Given the description of an element on the screen output the (x, y) to click on. 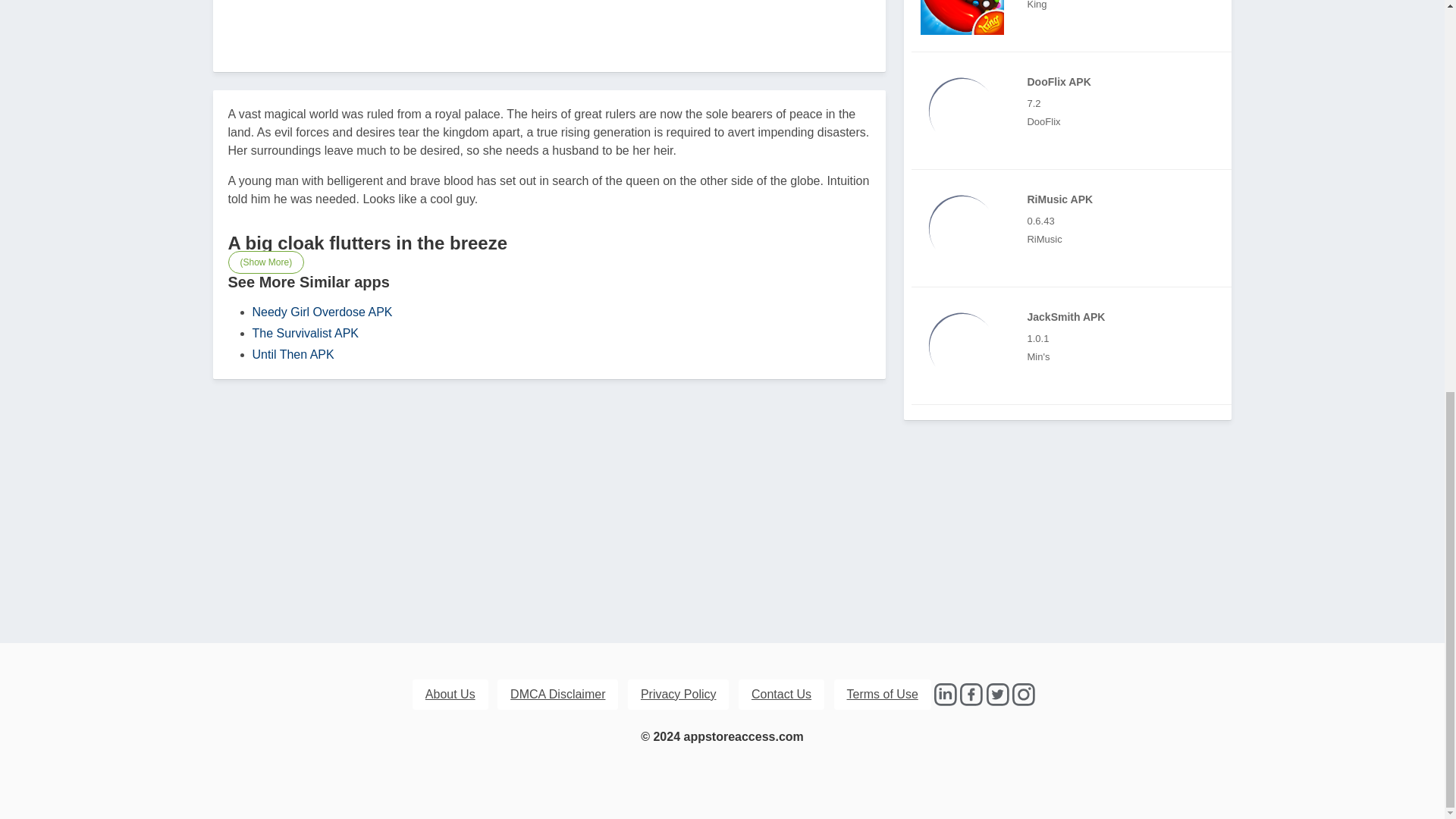
Advertisement (548, 20)
Until Then APK (292, 354)
Needy Girl Overdose APK (321, 311)
The Survivalist APK (304, 332)
